Given the description of an element on the screen output the (x, y) to click on. 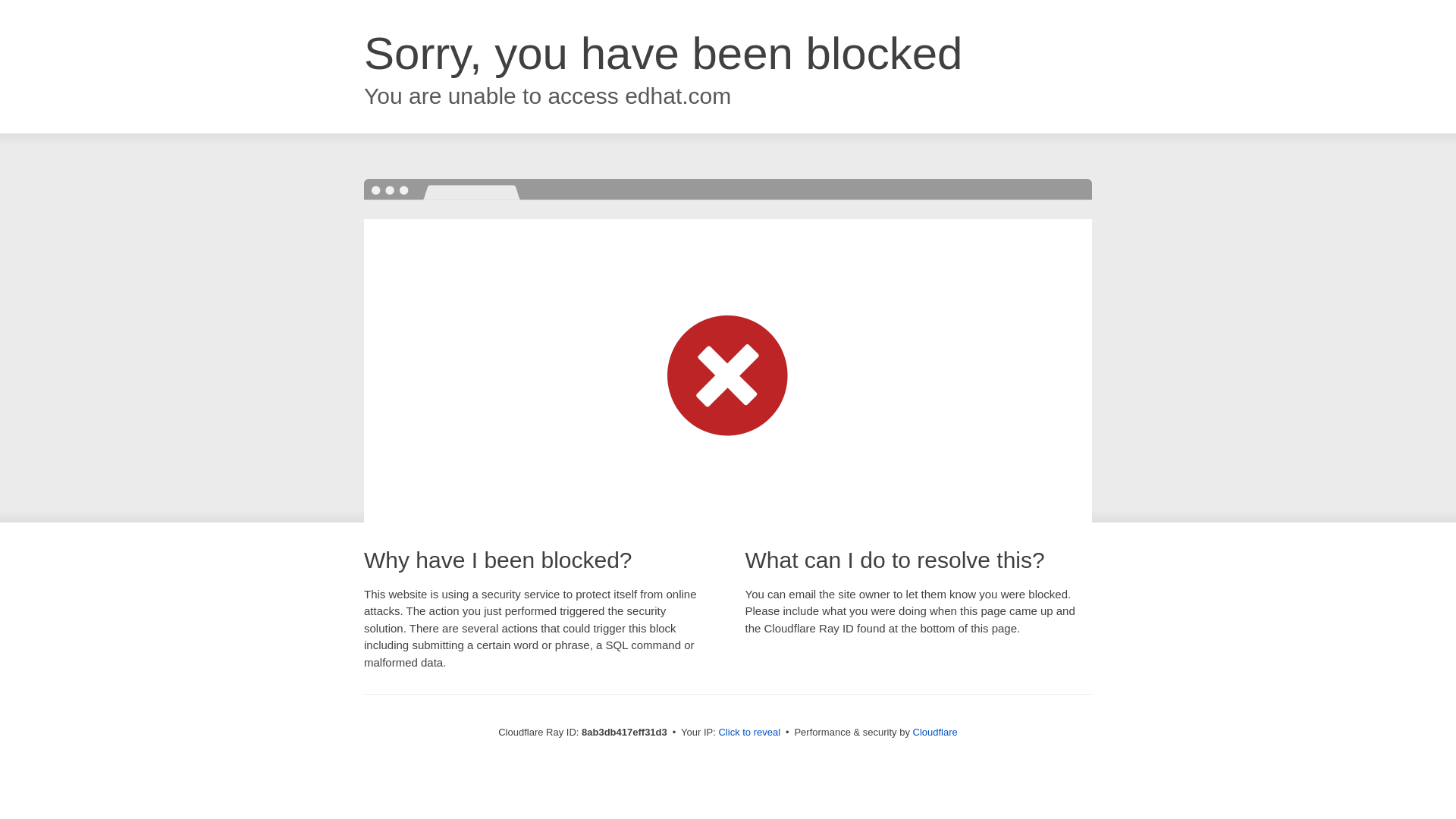
Cloudflare (935, 731)
Click to reveal (748, 732)
